Given the description of an element on the screen output the (x, y) to click on. 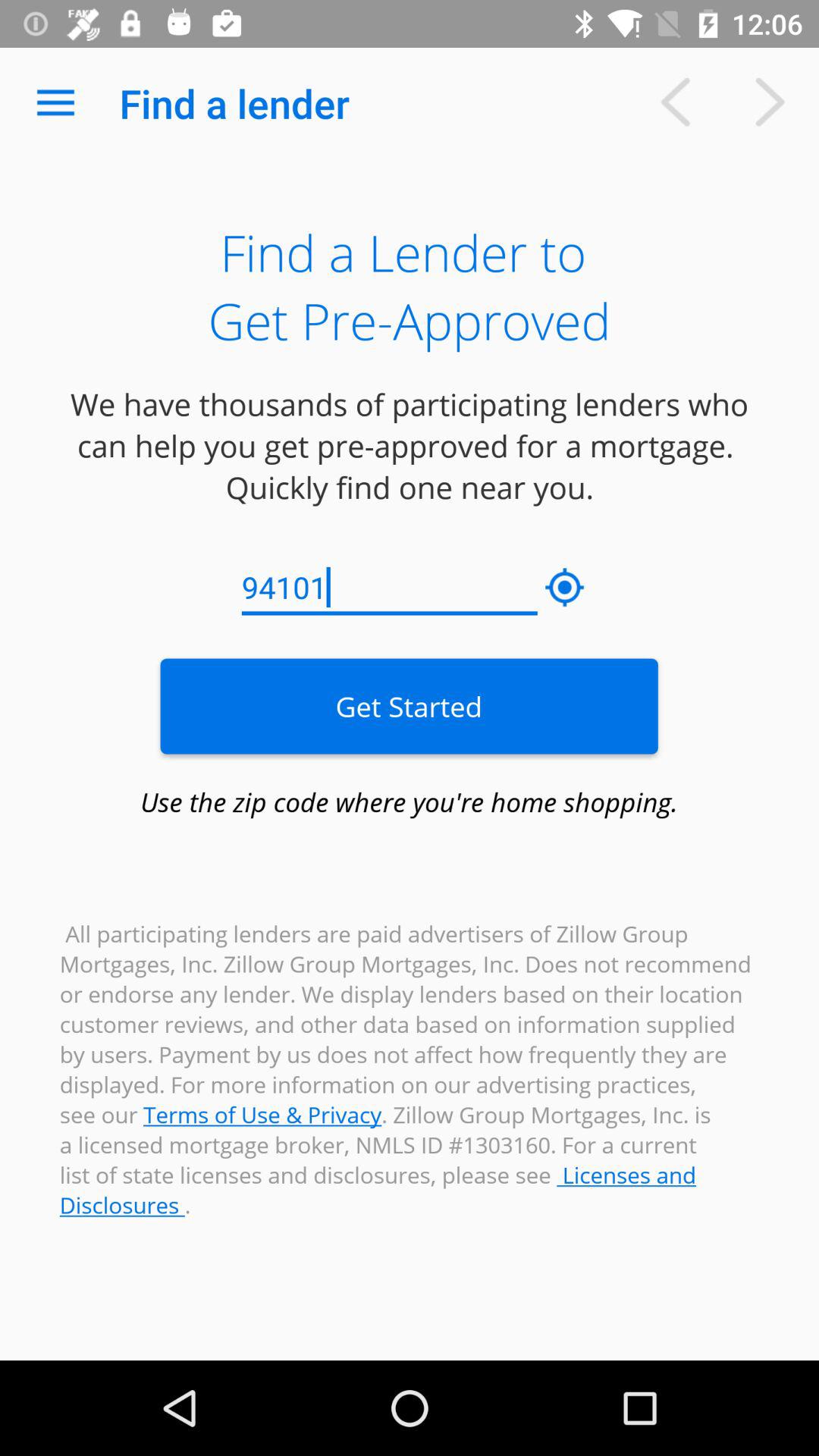
press item next to 94101 icon (565, 587)
